Given the description of an element on the screen output the (x, y) to click on. 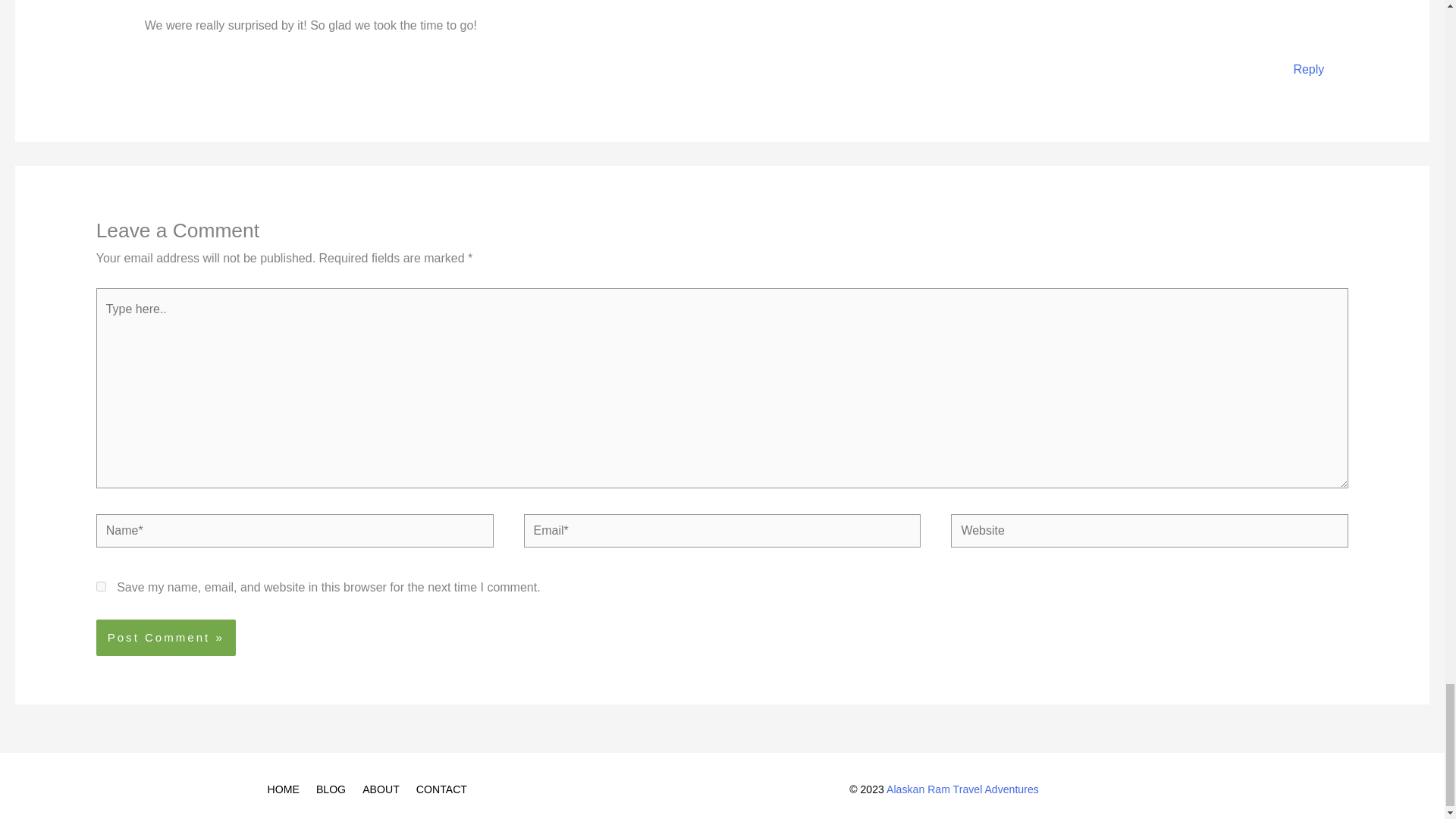
HOME (288, 789)
ABOUT (383, 789)
BLOG (333, 789)
yes (101, 586)
CONTACT (444, 789)
Reply (1307, 69)
